Given the description of an element on the screen output the (x, y) to click on. 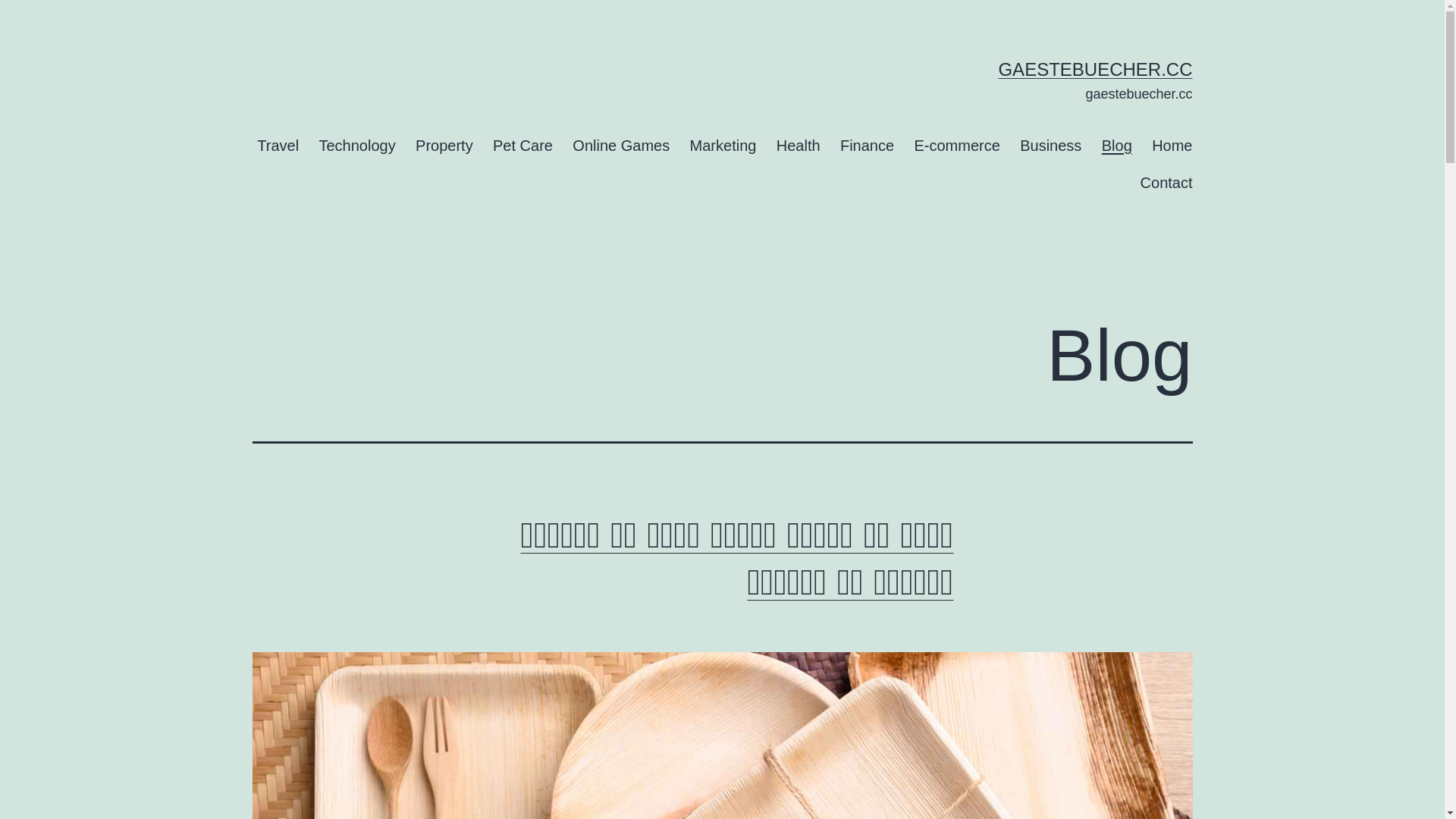
Online Games Element type: text (620, 144)
Health Element type: text (798, 144)
Travel Element type: text (277, 144)
Pet Care Element type: text (522, 144)
Home Element type: text (1172, 144)
E-commerce Element type: text (956, 144)
Business Element type: text (1051, 144)
Blog Element type: text (1117, 144)
GAESTEBUECHER.CC Element type: text (1094, 69)
Property Element type: text (444, 144)
Technology Element type: text (356, 144)
Finance Element type: text (867, 144)
Contact Element type: text (1165, 182)
Marketing Element type: text (722, 144)
